Given the description of an element on the screen output the (x, y) to click on. 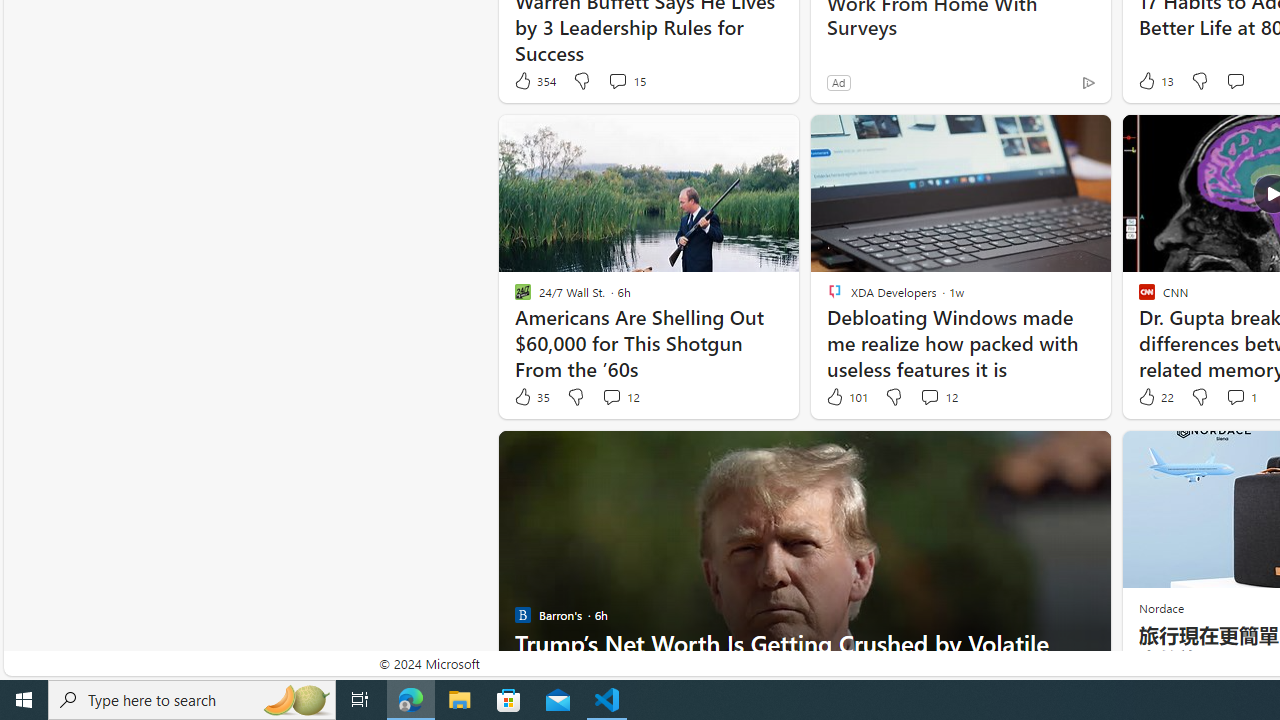
Dislike (1199, 397)
Hide this story (1050, 454)
354 Like (534, 80)
Ad Choice (1087, 82)
101 Like (845, 397)
Start the conversation (1235, 80)
35 Like (531, 397)
View comments 1 Comment (1240, 397)
View comments 1 Comment (1234, 396)
View comments 12 Comment (929, 396)
View comments 12 Comment (938, 397)
Start the conversation (1234, 80)
13 Like (1154, 80)
Ad (838, 82)
